Given the description of an element on the screen output the (x, y) to click on. 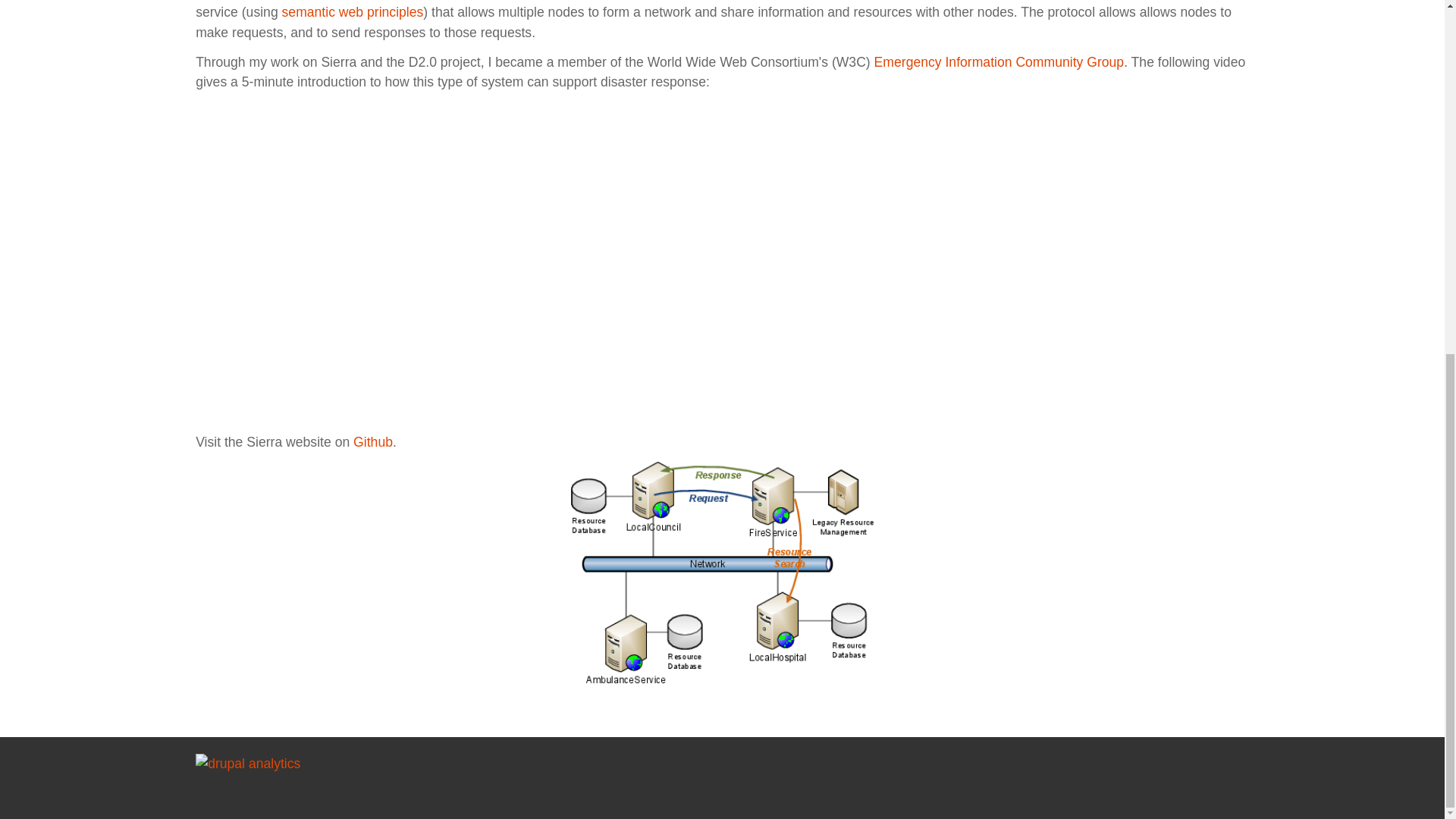
Github (373, 441)
drupal analytics (247, 761)
semantic web principles (352, 11)
Emergency Information Community Group (999, 61)
